Given the description of an element on the screen output the (x, y) to click on. 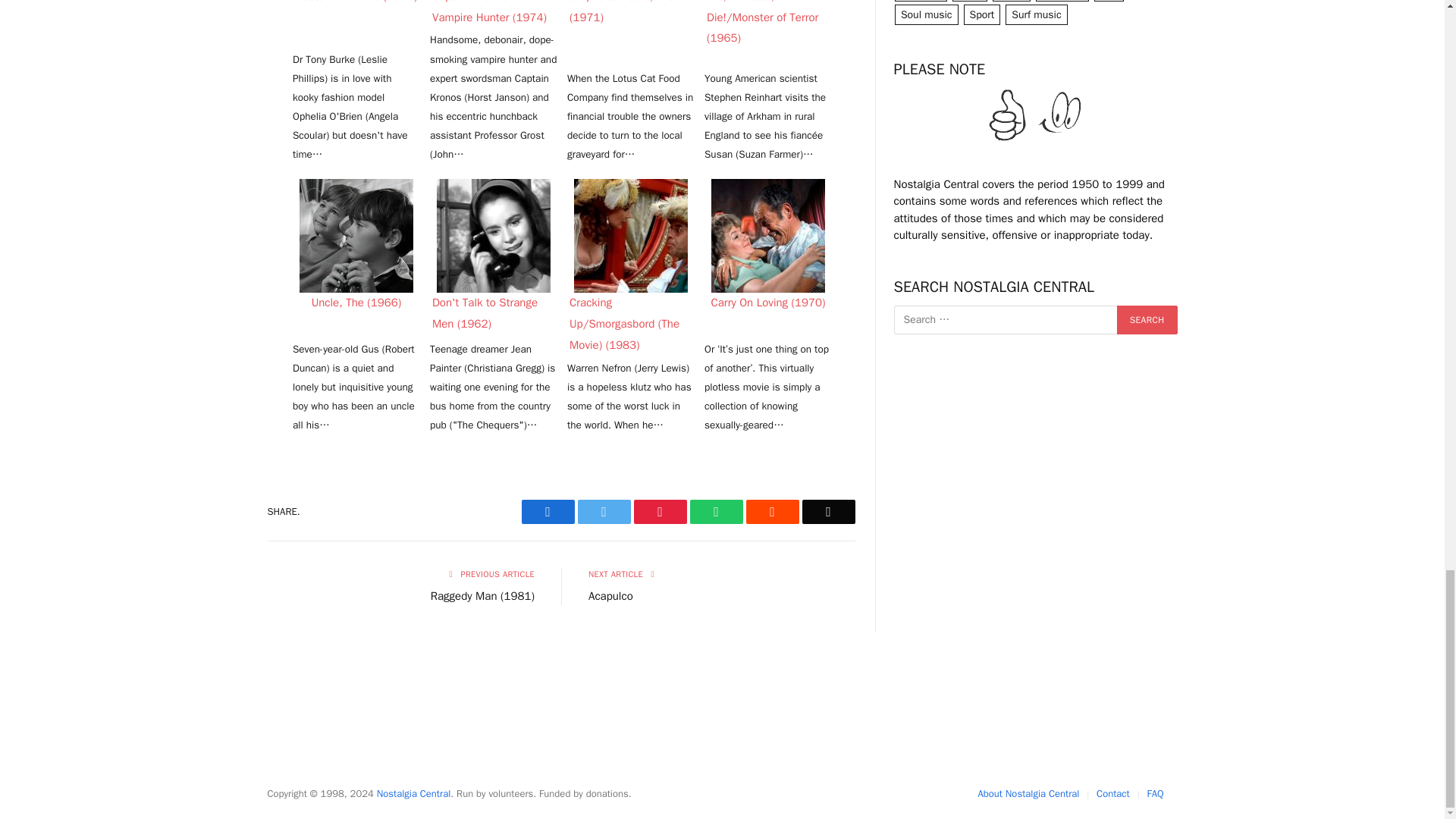
Search (1146, 319)
Search (1146, 319)
